Given the description of an element on the screen output the (x, y) to click on. 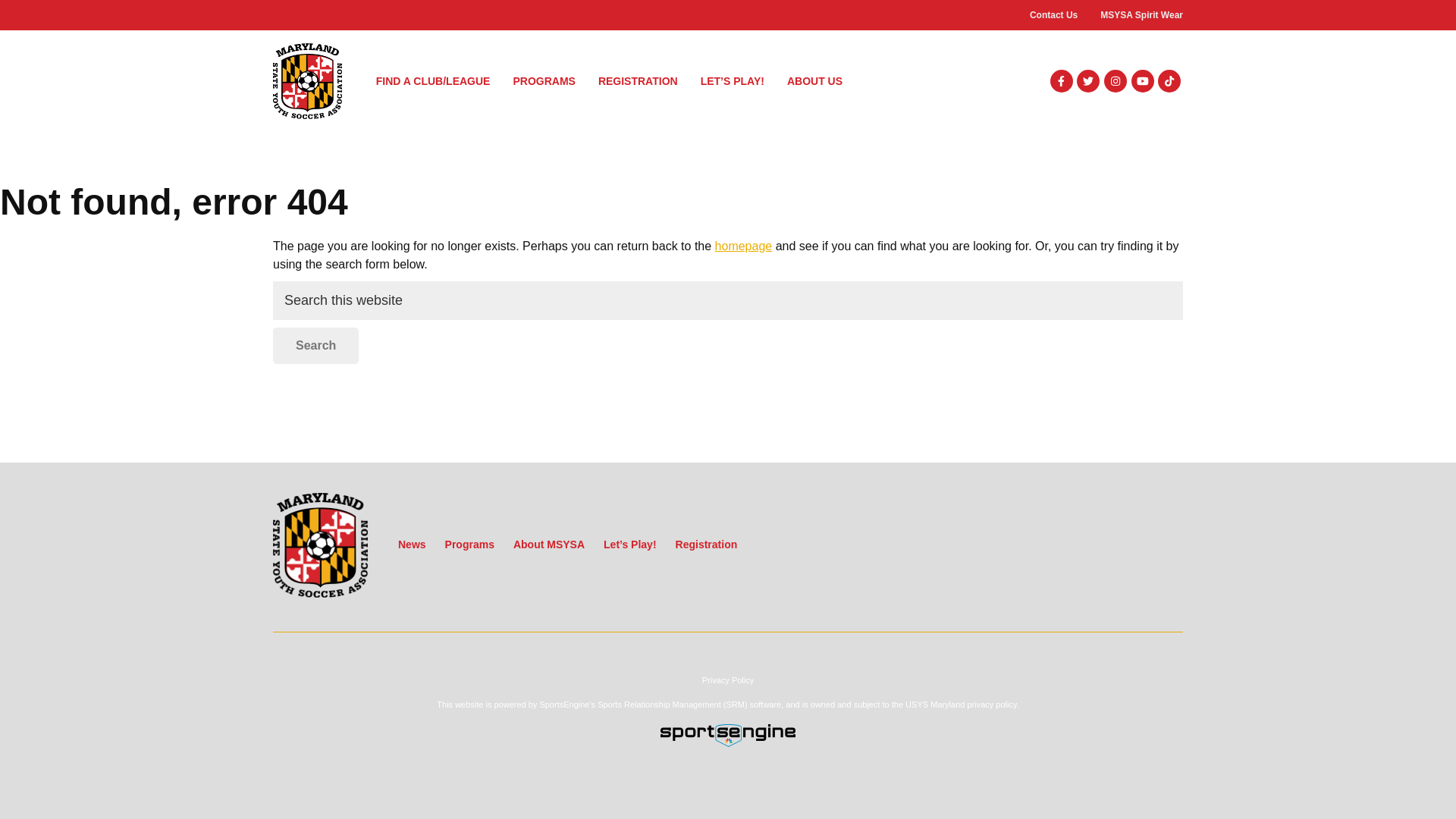
Sports Relationship Management (658, 703)
Privacy Policy (727, 680)
About MSYSA (549, 544)
REGISTRATION (637, 80)
Search (315, 345)
ABOUT US (814, 80)
Contact Us (1053, 15)
Search (315, 345)
PROGRAMS (543, 80)
MSYSA Spirit Wear (1141, 15)
News (411, 544)
Programs (470, 544)
Search (315, 345)
homepage (743, 245)
